Given the description of an element on the screen output the (x, y) to click on. 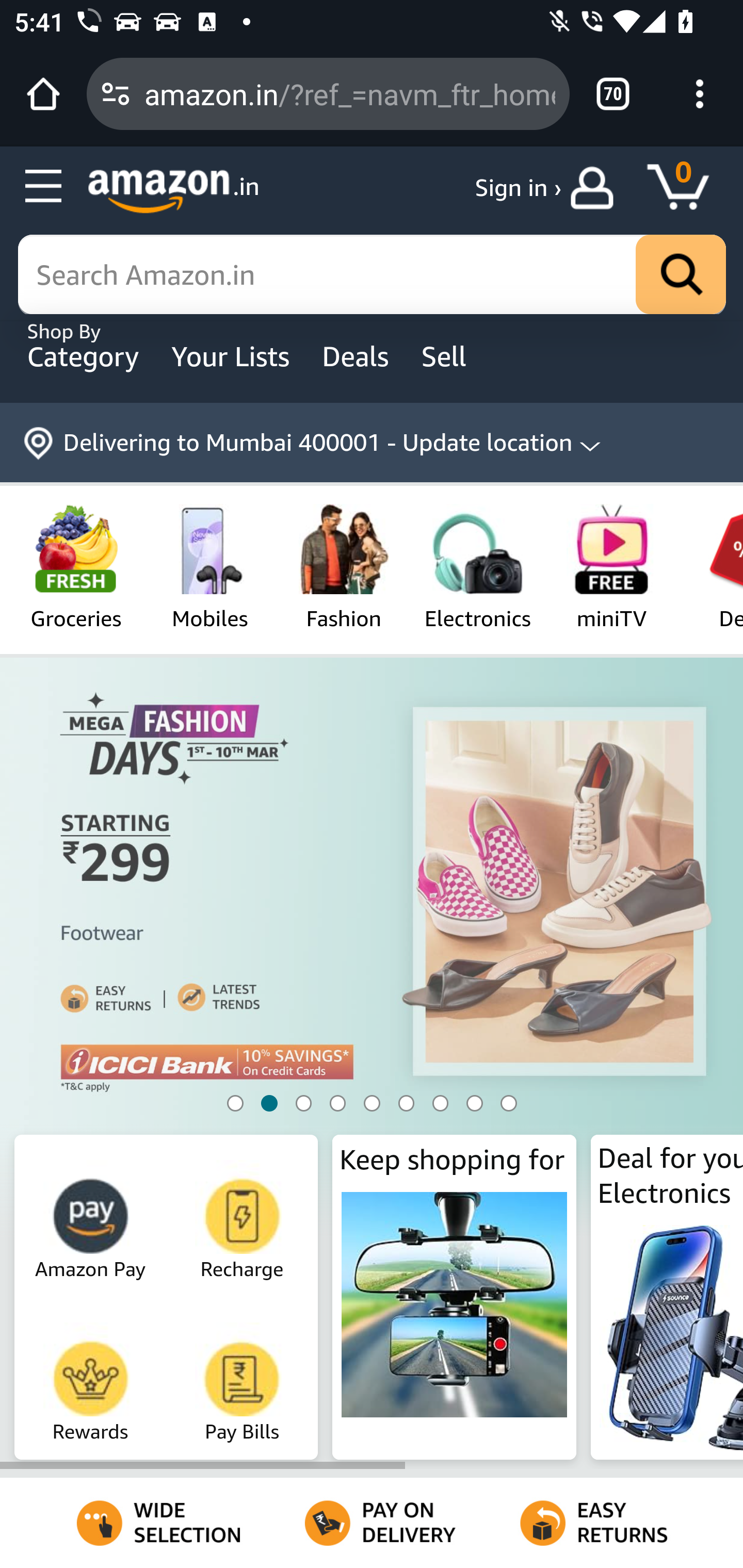
Open the home page (43, 93)
Connection is secure (115, 93)
Switch or close tabs (612, 93)
Customize and control Google Chrome (699, 93)
amazon.in/?ref_=navm_ftr_home (349, 92)
Open Menu (44, 187)
Sign in › (518, 188)
your account (596, 188)
Cart 0 (687, 188)
Amazon.in .in (173, 191)
Go (681, 275)
Category Shop By Category Shop By (84, 355)
Your Lists (232, 355)
Deals (358, 355)
Sell (457, 355)
Groceries Groceries Groceries Groceries (75, 566)
Mobiles Mobiles Mobiles Mobiles (209, 566)
Fashion Fashion Fashion Fashion (343, 566)
Electronics Electronics Electronics Electronics (477, 566)
miniTV miniTV miniTV miniTV (611, 566)
Shoes Unrec Dec (371, 982)
Amazon Pay 01J2w2og5ZL._SS70_ Amazon Pay (90, 1212)
Recharge 01JrN5TPJTL._SS70_ Recharge (242, 1212)
Rewards 01K+ne++tuL._SS70_ Rewards (90, 1375)
Pay Bills 01UapGauDHL._SS70_ Pay Bills (242, 1375)
Pay on delivery (371, 1522)
